Given the description of an element on the screen output the (x, y) to click on. 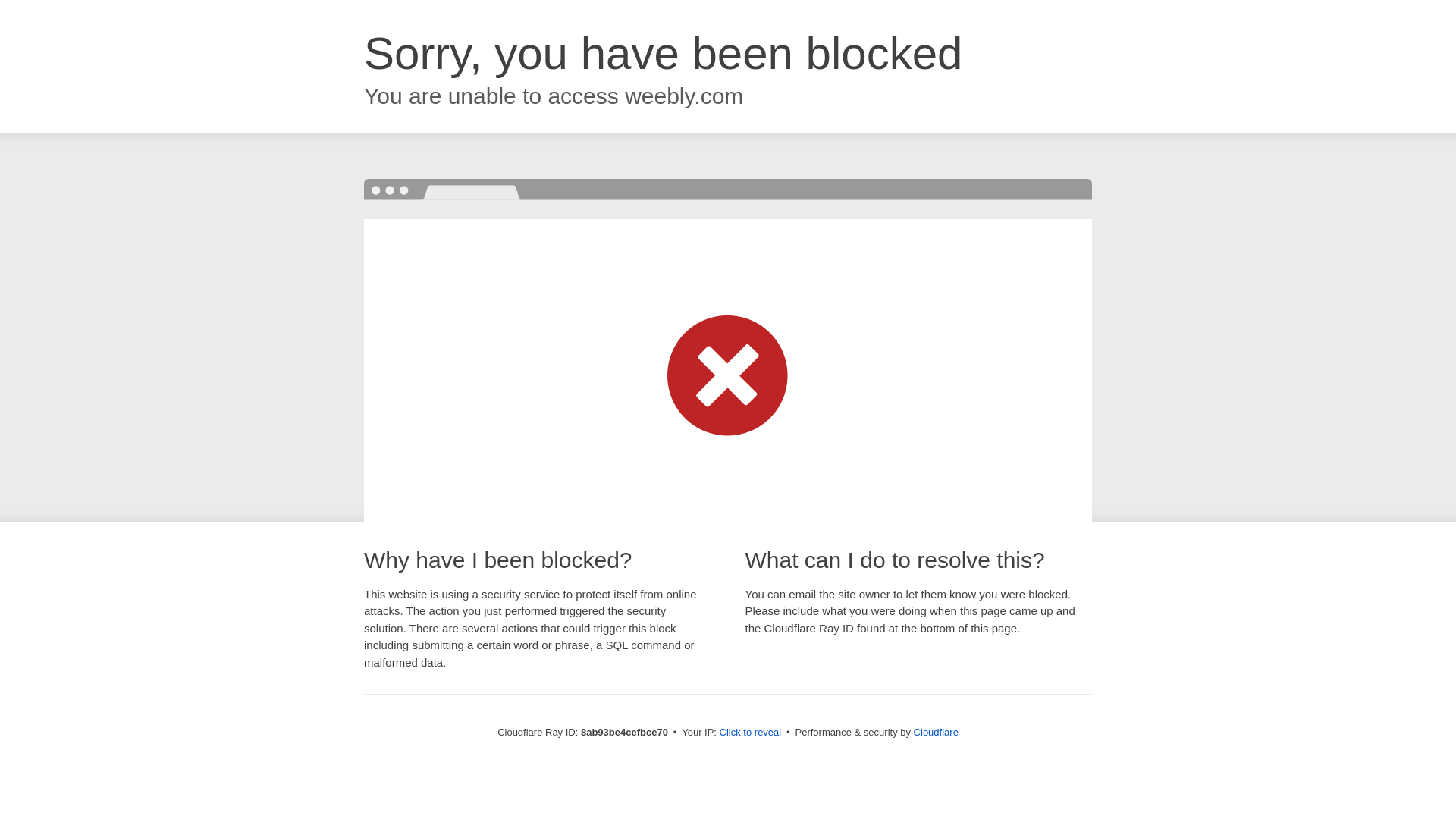
Click to reveal (750, 732)
Cloudflare (936, 731)
